Given the description of an element on the screen output the (x, y) to click on. 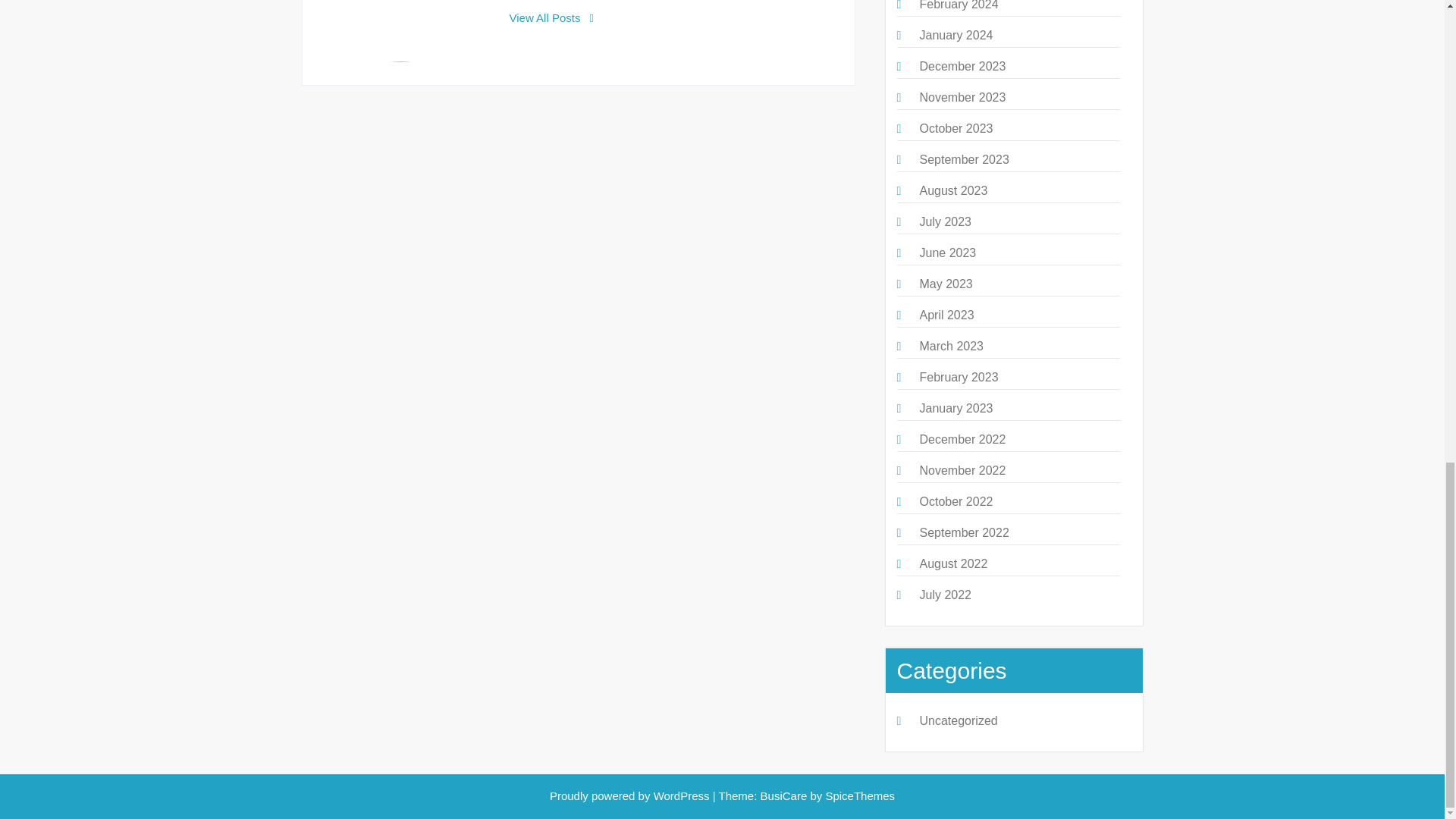
August 2023 (952, 190)
WordPress (681, 795)
July 2023 (944, 221)
April 2023 (946, 314)
January 2024 (955, 34)
View All Posts (551, 17)
March 2023 (951, 345)
January 2023 (955, 408)
November 2023 (962, 97)
December 2022 (962, 439)
September 2023 (963, 159)
February 2024 (957, 5)
September 2022 (963, 532)
December 2023 (962, 65)
February 2023 (957, 377)
